Given the description of an element on the screen output the (x, y) to click on. 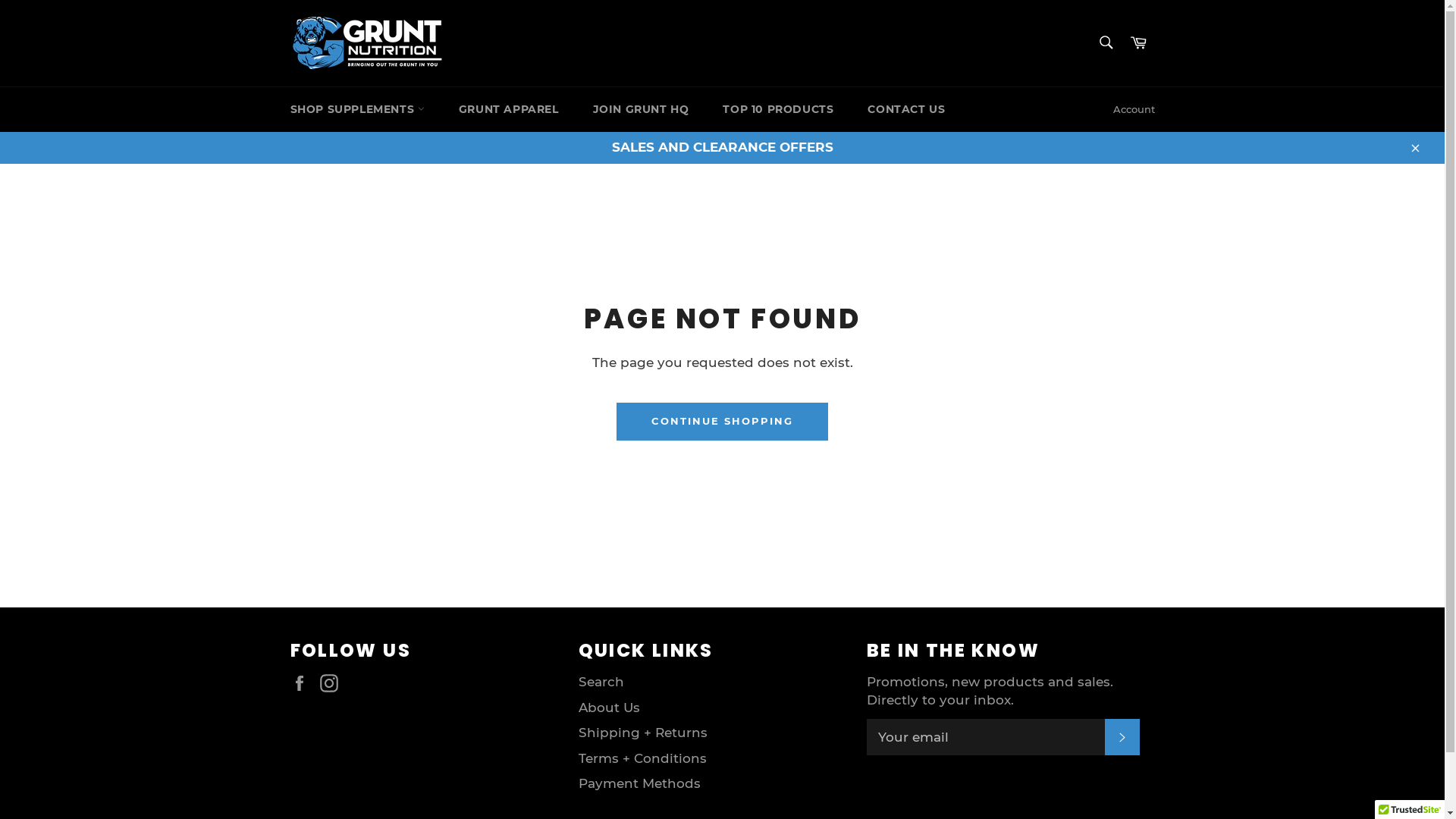
Payment Methods Element type: text (638, 782)
Search Element type: text (1105, 41)
SALES AND CLEARANCE OFFERS Element type: text (722, 147)
CONTINUE SHOPPING Element type: text (721, 421)
Close Element type: text (1414, 147)
Search Element type: text (600, 681)
TOP 10 PRODUCTS Element type: text (777, 109)
Shipping + Returns Element type: text (641, 732)
JOIN GRUNT HQ Element type: text (640, 109)
Instagram Element type: text (332, 682)
Facebook Element type: text (302, 682)
GRUNT APPAREL Element type: text (508, 109)
Account Element type: text (1133, 109)
Terms + Conditions Element type: text (641, 757)
CONTACT US Element type: text (906, 109)
SUBSCRIBE Element type: text (1121, 736)
About Us Element type: text (608, 707)
Cart Element type: text (1138, 42)
SHOP SUPPLEMENTS Element type: text (356, 109)
